Given the description of an element on the screen output the (x, y) to click on. 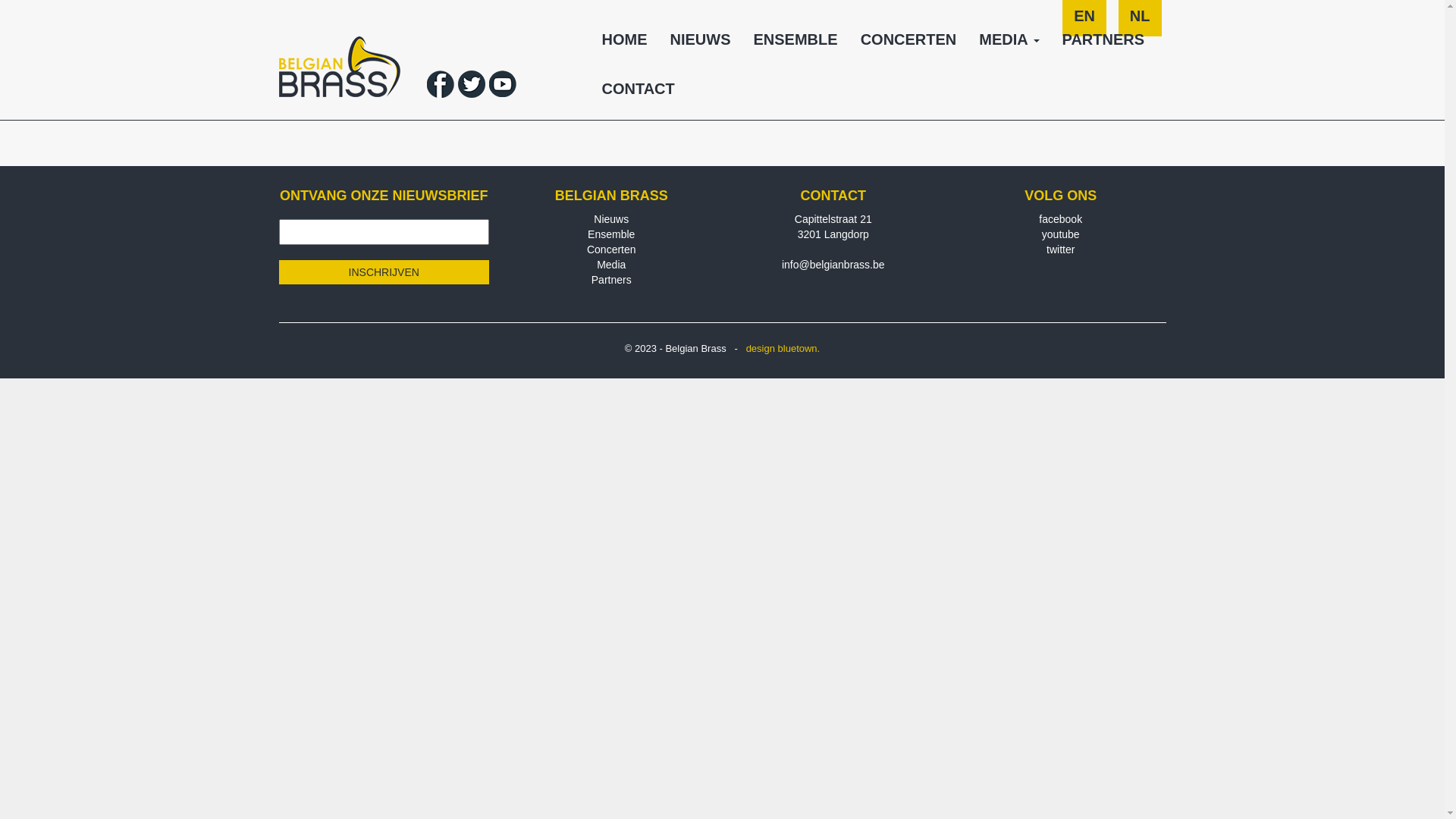
CONCERTEN Element type: text (908, 44)
MEDIA Element type: text (1008, 44)
EN Element type: text (1084, 23)
facebook Element type: text (1060, 219)
NIEUWS Element type: text (699, 44)
HOME Element type: text (623, 44)
NL Element type: text (1139, 23)
twitter Element type: text (1060, 249)
Ensemble Element type: text (610, 234)
Inschrijven Element type: text (384, 272)
CONTACT Element type: text (637, 94)
ENSEMBLE Element type: text (794, 44)
youtube Element type: text (1060, 234)
Concerten Element type: text (611, 249)
PARTNERS Element type: text (1103, 44)
Partners Element type: text (611, 279)
info@belgianbrass.be Element type: text (832, 264)
Media Element type: text (610, 264)
bluetown. Element type: text (799, 348)
Nieuws Element type: text (610, 219)
